Given the description of an element on the screen output the (x, y) to click on. 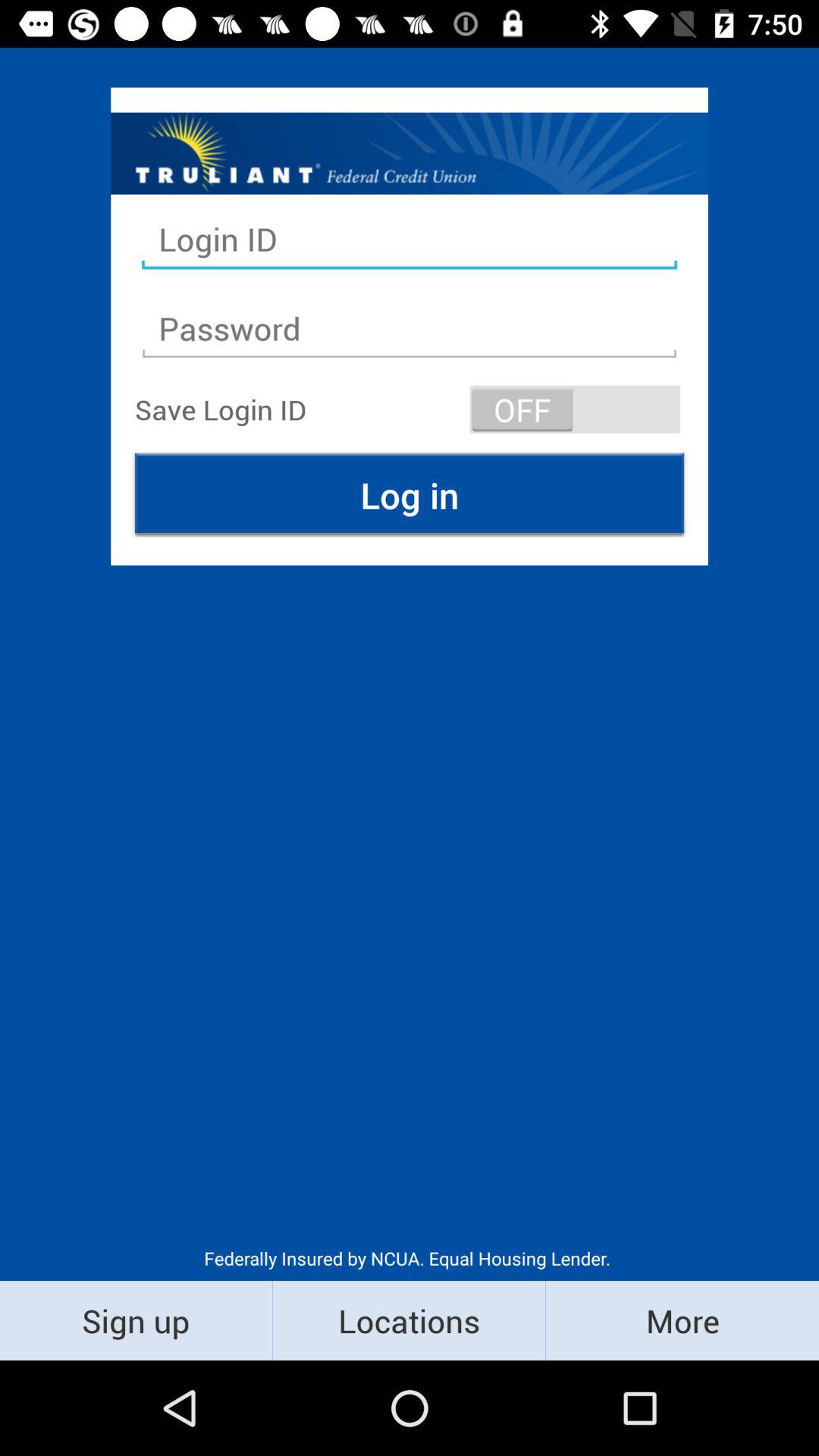
select the item next to the locations icon (682, 1320)
